Given the description of an element on the screen output the (x, y) to click on. 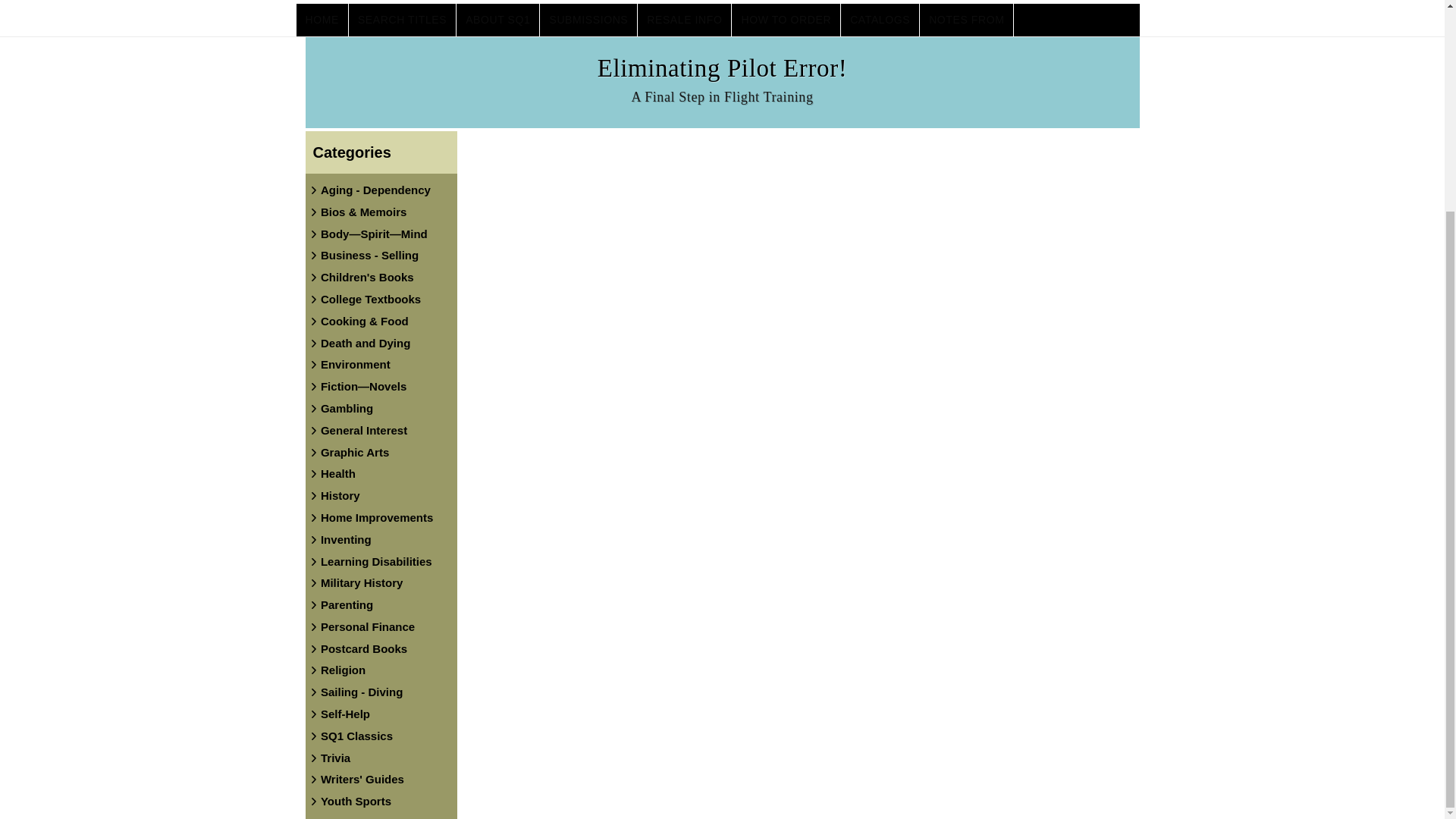
SEARCH TITLES (403, 20)
HOW TO ORDER (786, 20)
ABOUT SQ1 (498, 20)
College Textbooks (370, 298)
Aging - Dependency (375, 189)
RESALE INFO (684, 20)
Death and Dying (365, 342)
NOTES FROM (966, 20)
CATALOGS (880, 20)
Children's Books (366, 277)
